Given the description of an element on the screen output the (x, y) to click on. 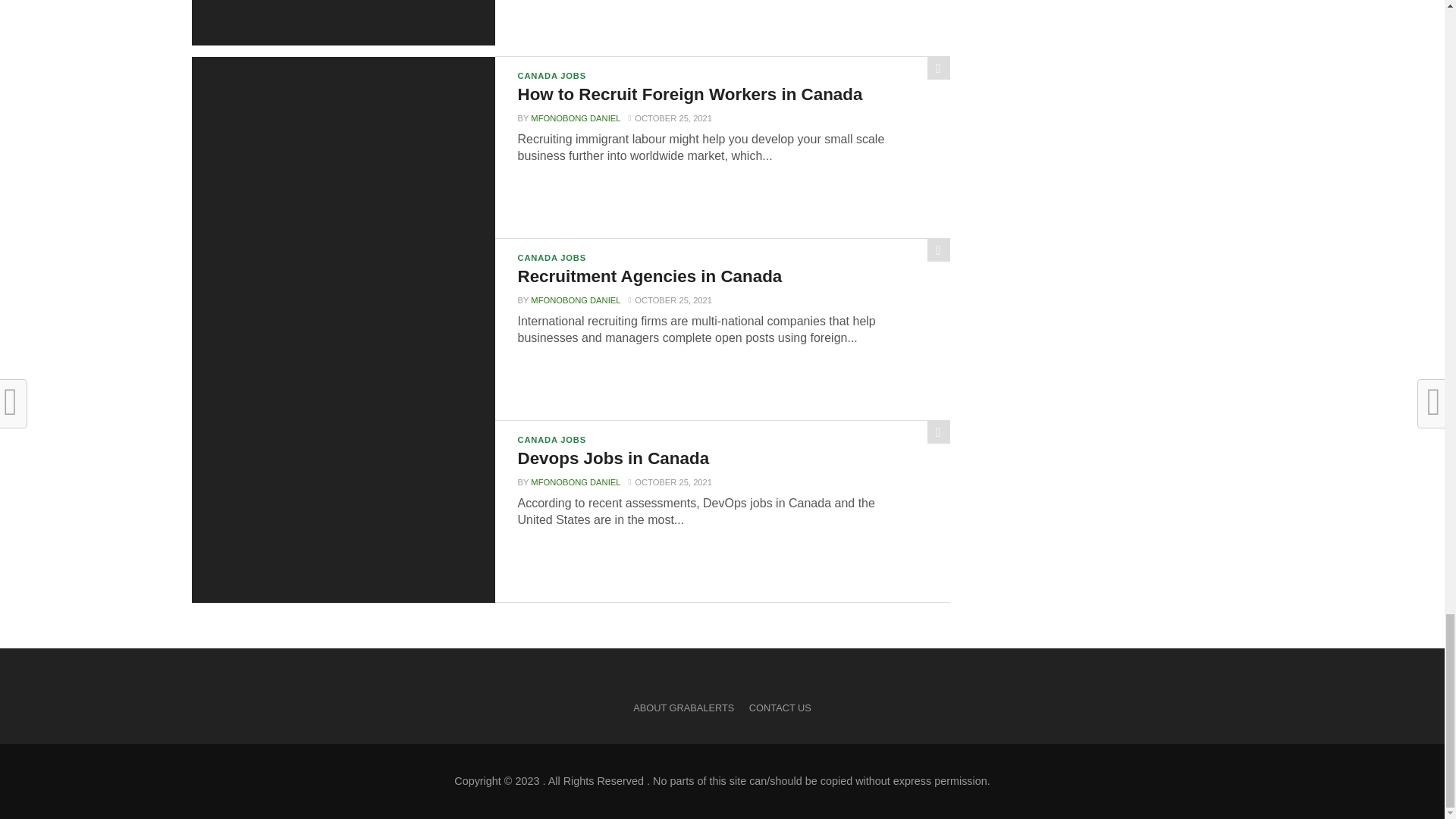
Posts by Mfonobong Daniel (575, 299)
MFONOBONG DANIEL (575, 117)
Posts by Mfonobong Daniel (575, 117)
MFONOBONG DANIEL (575, 299)
